Given the description of an element on the screen output the (x, y) to click on. 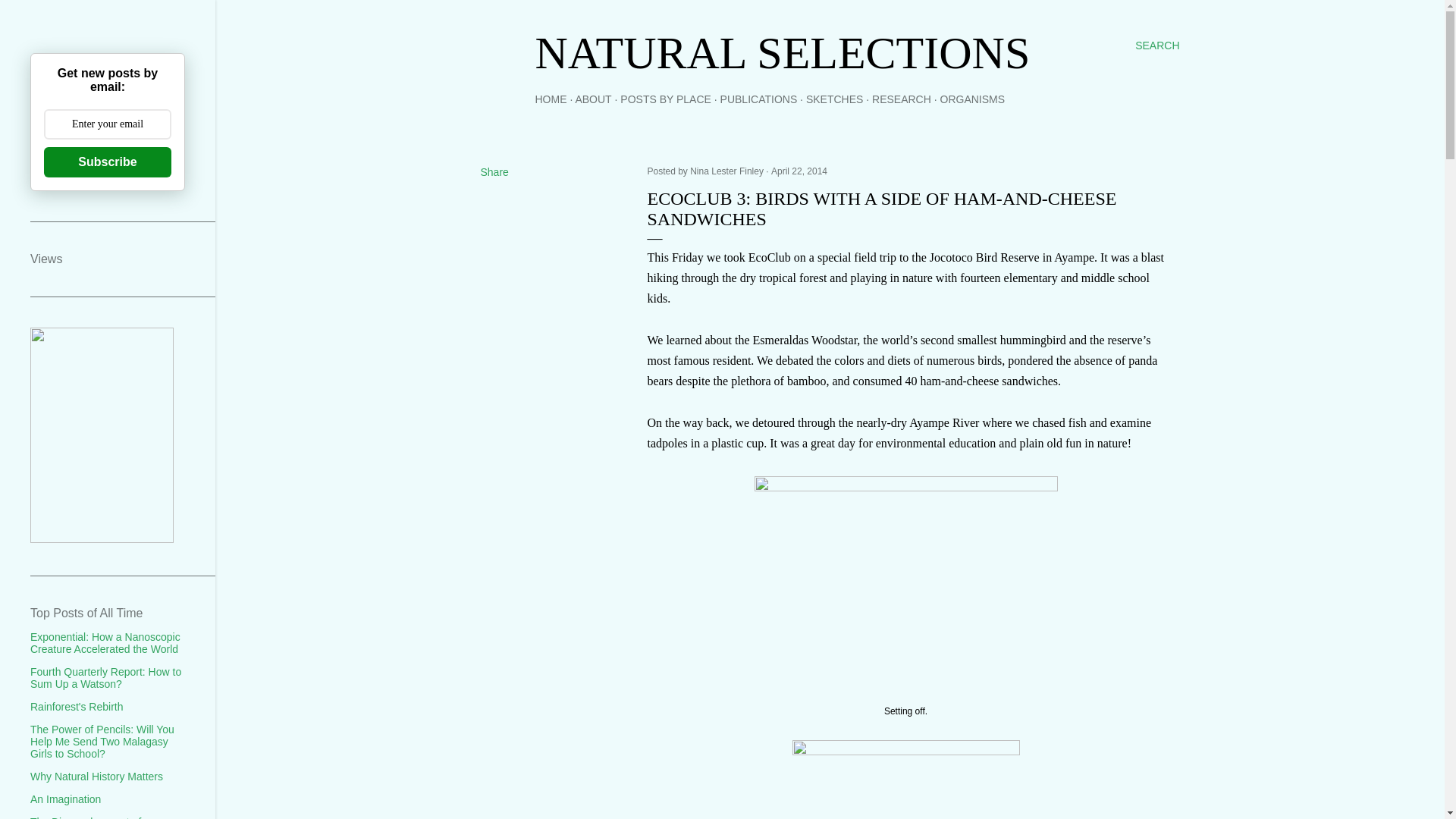
permanent link (799, 171)
author profile (727, 171)
An Imagination (65, 799)
Fourth Quarterly Report: How to Sum Up a Watson? (105, 677)
Why Natural History Matters (96, 776)
HOME (551, 99)
SKETCHES (834, 99)
April 22, 2014 (799, 171)
RESEARCH (901, 99)
NATURAL SELECTIONS (782, 52)
